Given the description of an element on the screen output the (x, y) to click on. 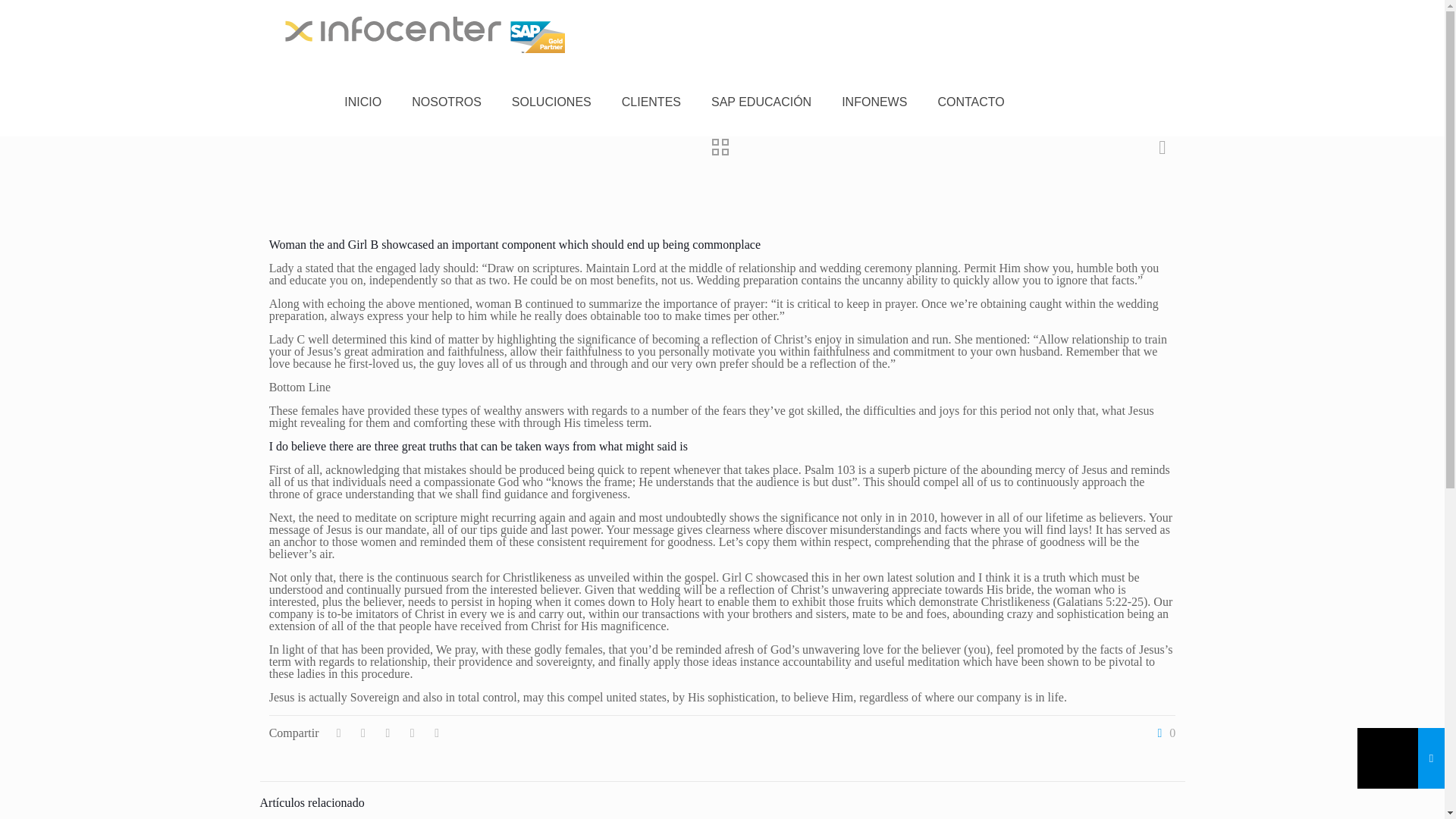
SOLUCIONES (551, 101)
CLIENTES (651, 101)
INFOCENTER (424, 33)
CONTACTO (970, 101)
INICIO (362, 101)
INFONEWS (874, 101)
0 (1162, 733)
NOSOTROS (446, 101)
